Given the description of an element on the screen output the (x, y) to click on. 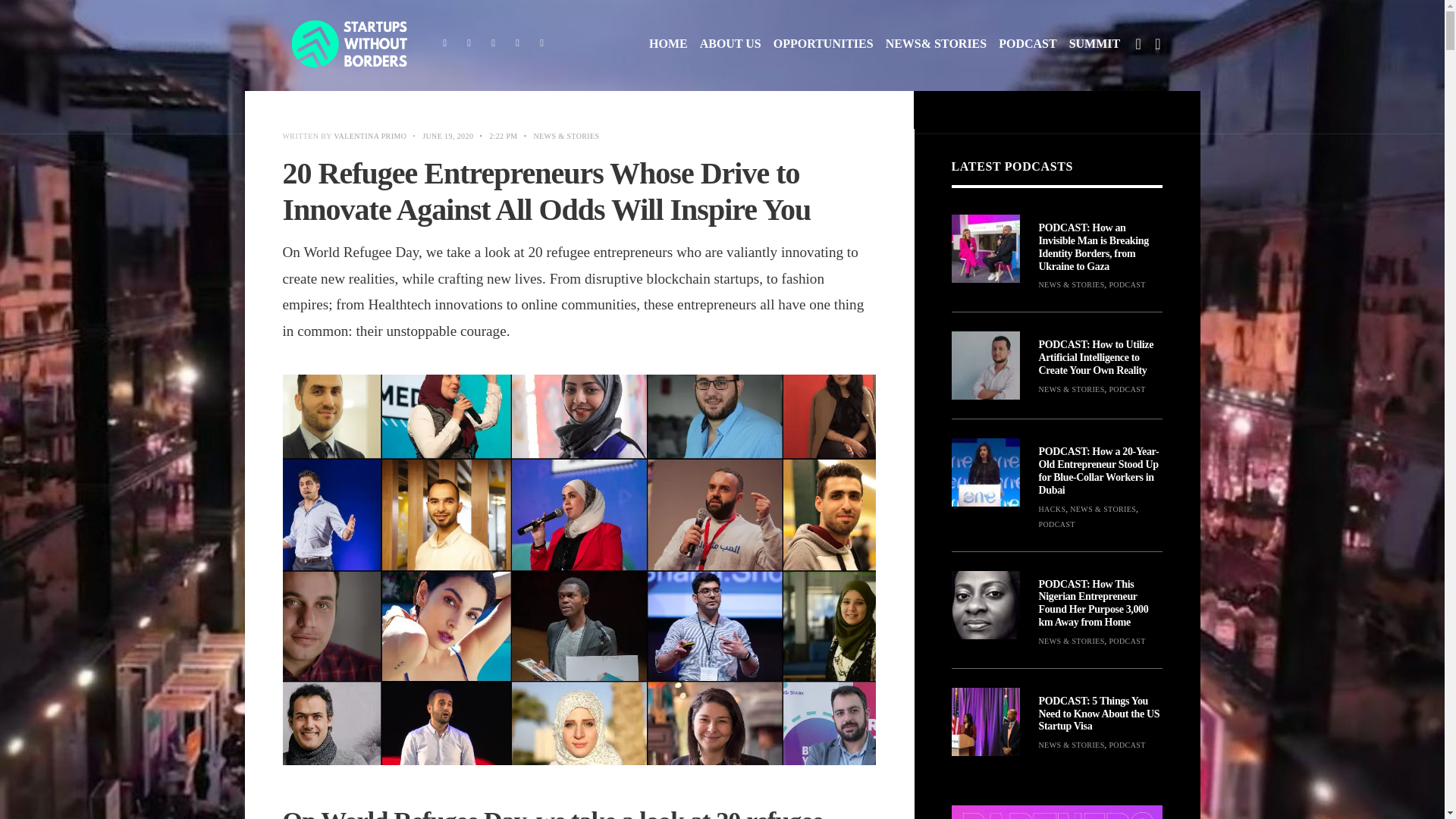
SUMMIT (1094, 43)
OPPORTUNITIES (823, 43)
HOME (668, 43)
Twitter (468, 43)
YouTube (516, 43)
Posts by Valentina Primo (369, 135)
Facebook (443, 43)
PODCAST (1027, 43)
Instagram (492, 43)
